Given the description of an element on the screen output the (x, y) to click on. 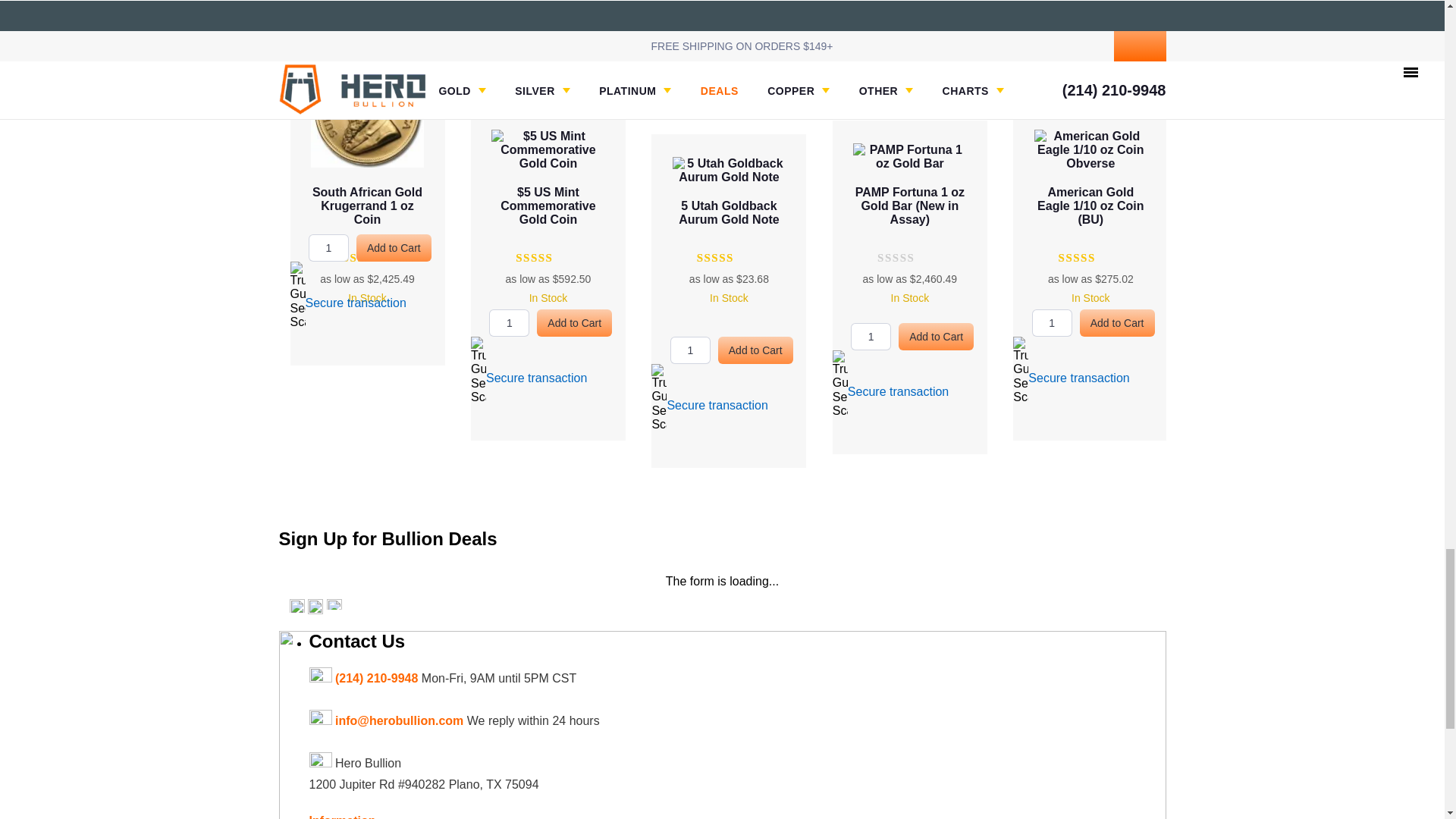
1 (870, 336)
1 (689, 349)
1 (328, 247)
1 (509, 322)
1 (1051, 322)
